Given the description of an element on the screen output the (x, y) to click on. 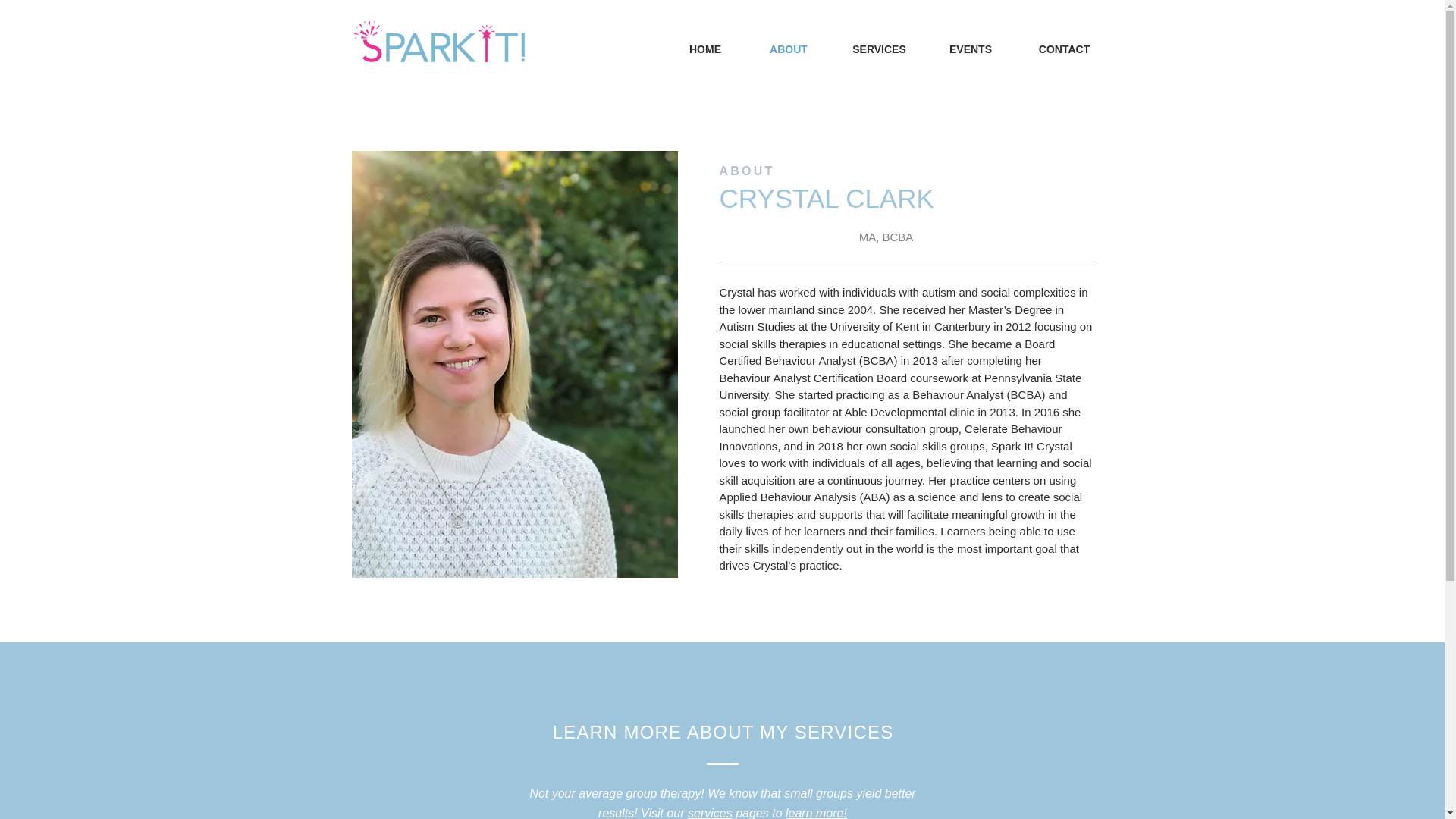
SERVICES (843, 731)
ABOUT (788, 48)
HOME (704, 48)
pages to (759, 812)
learn more! (816, 812)
EVENTS (969, 48)
services (709, 812)
CRYSTAL CLARK (826, 197)
SERVICES (878, 48)
CONTACT (1064, 48)
